Given the description of an element on the screen output the (x, y) to click on. 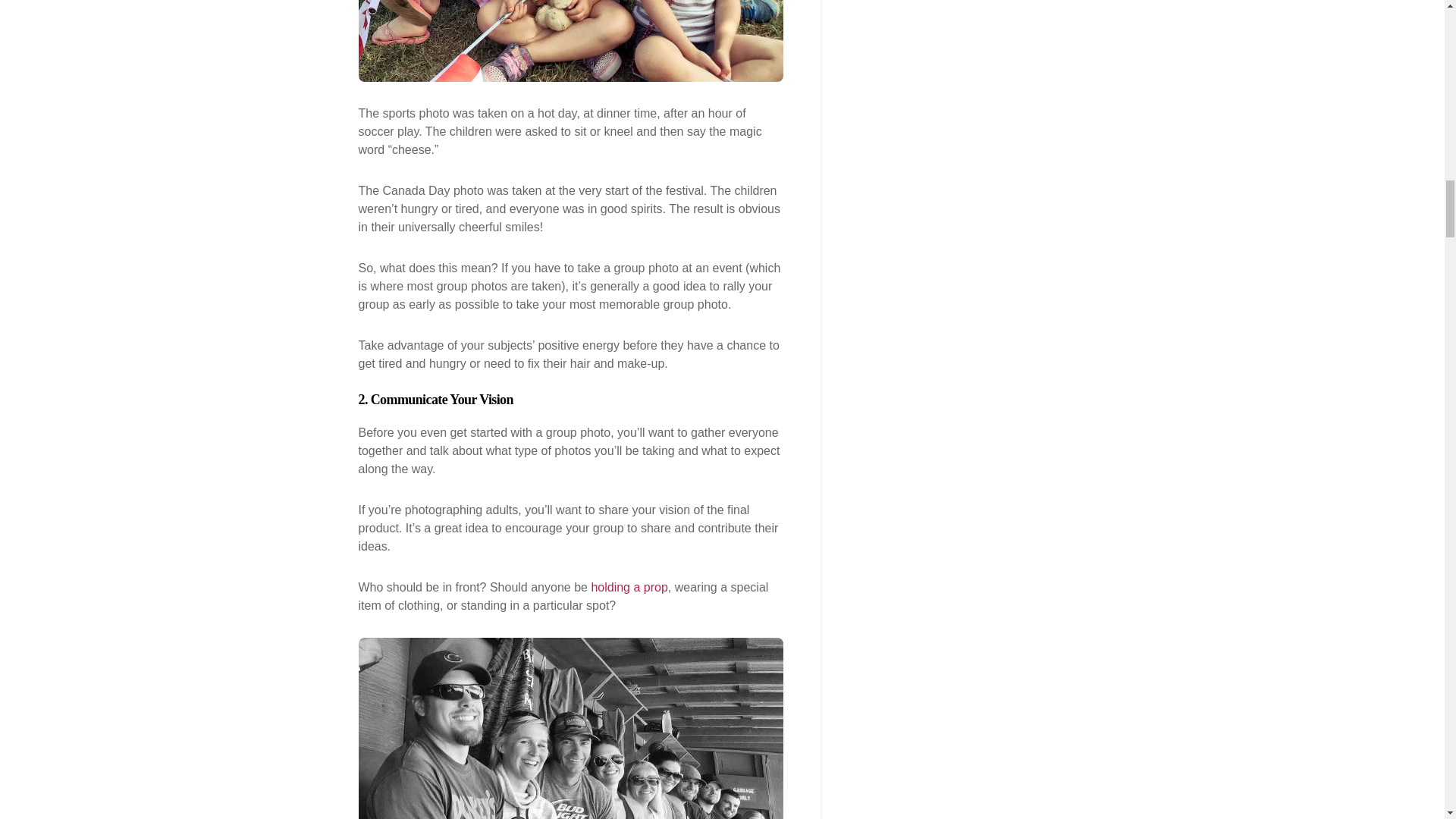
holding a prop (628, 586)
